Given the description of an element on the screen output the (x, y) to click on. 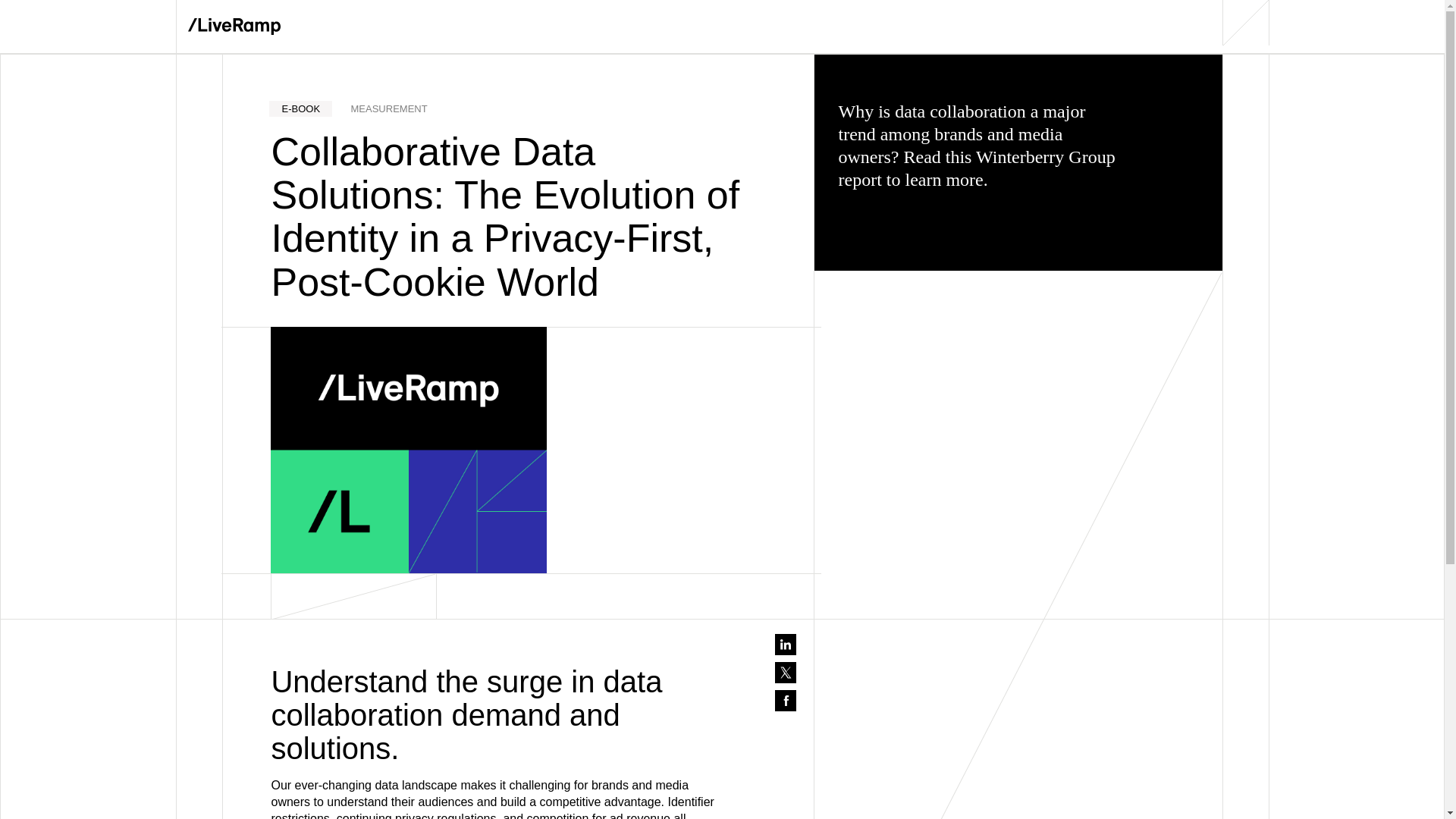
MEASUREMENT (389, 108)
Share on twitter (785, 672)
E-BOOK (300, 108)
Share on linkedin (785, 644)
Share on facebook (785, 700)
